Given the description of an element on the screen output the (x, y) to click on. 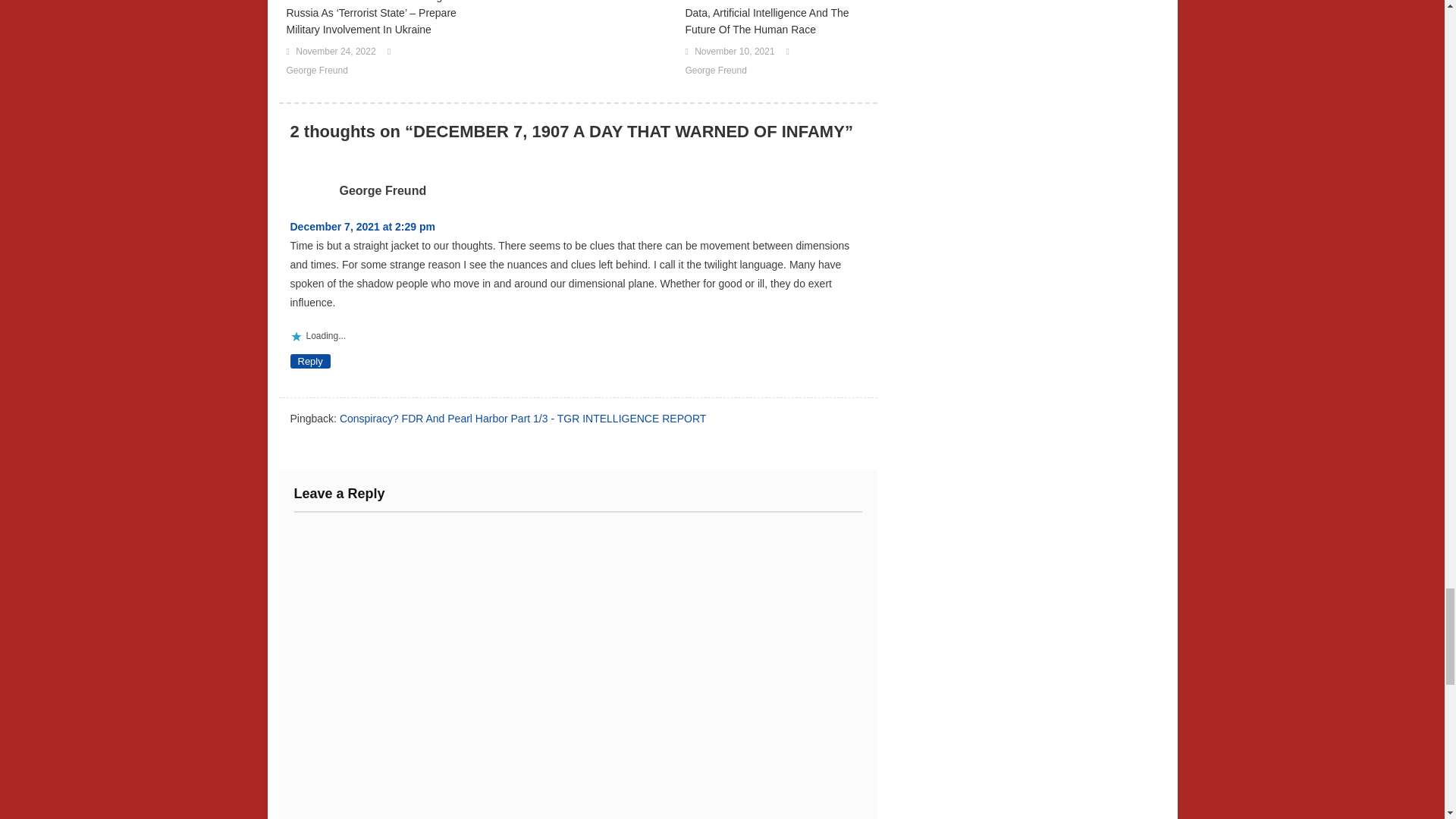
November 24, 2022 (335, 52)
